Given the description of an element on the screen output the (x, y) to click on. 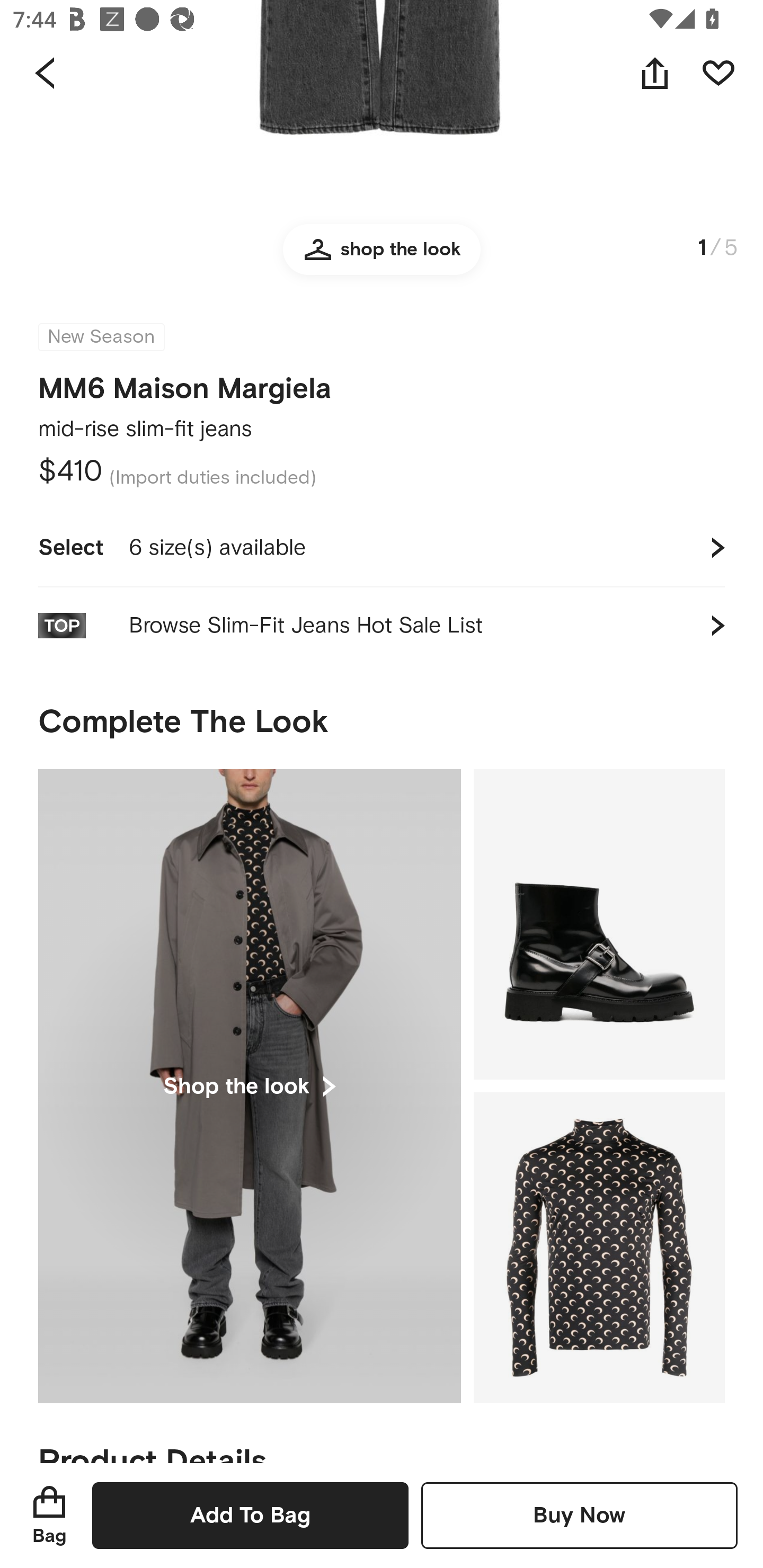
shop the look (381, 257)
MM6 Maison Margiela (184, 389)
Select 6 size(s) available (381, 547)
Browse Slim-Fit Jeans Hot Sale List (381, 625)
Bag (49, 1515)
Add To Bag (250, 1515)
Buy Now (579, 1515)
